Given the description of an element on the screen output the (x, y) to click on. 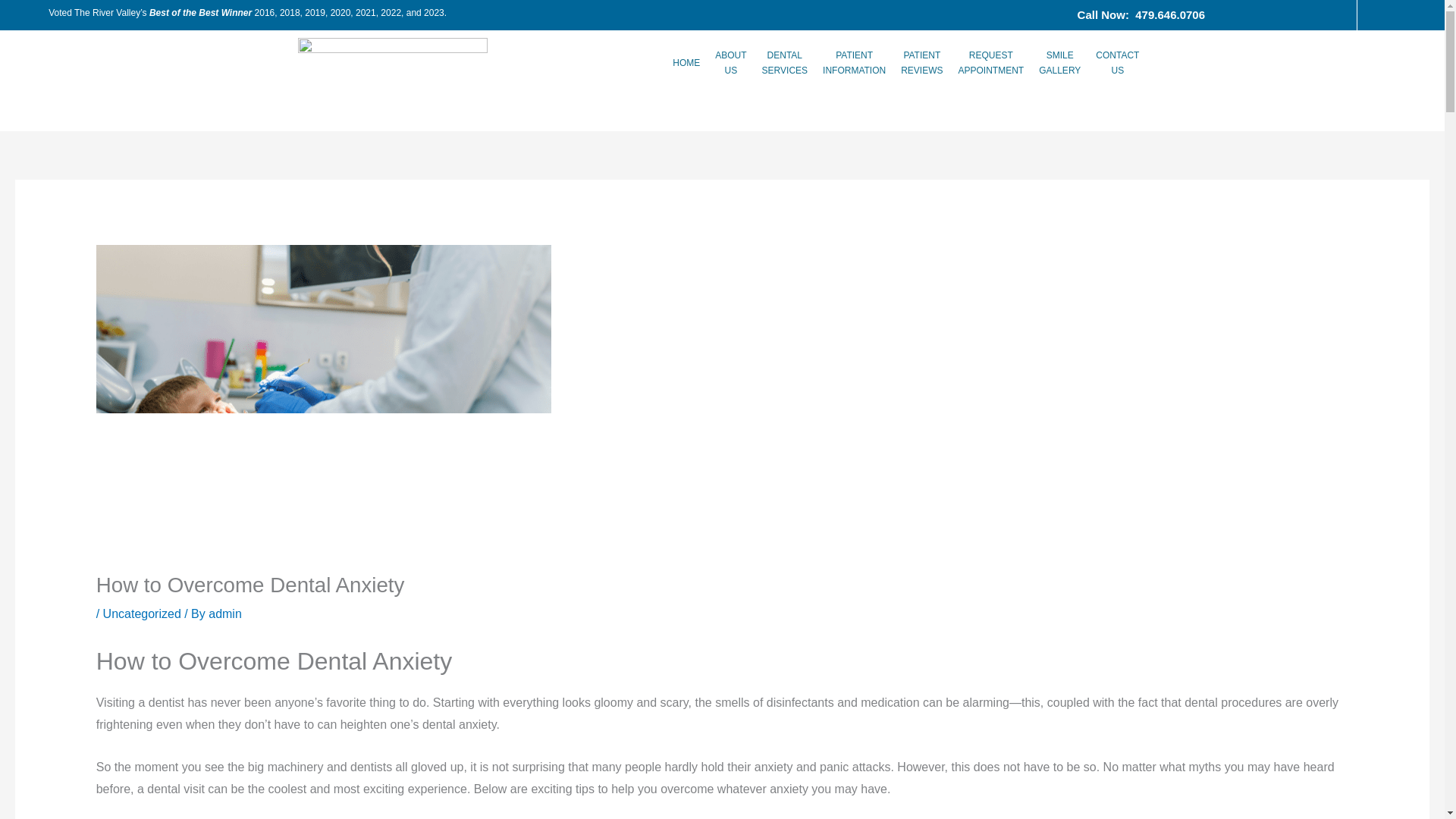
View all posts by admin (224, 613)
Call Now:  479.646.0706 (730, 62)
